Given the description of an element on the screen output the (x, y) to click on. 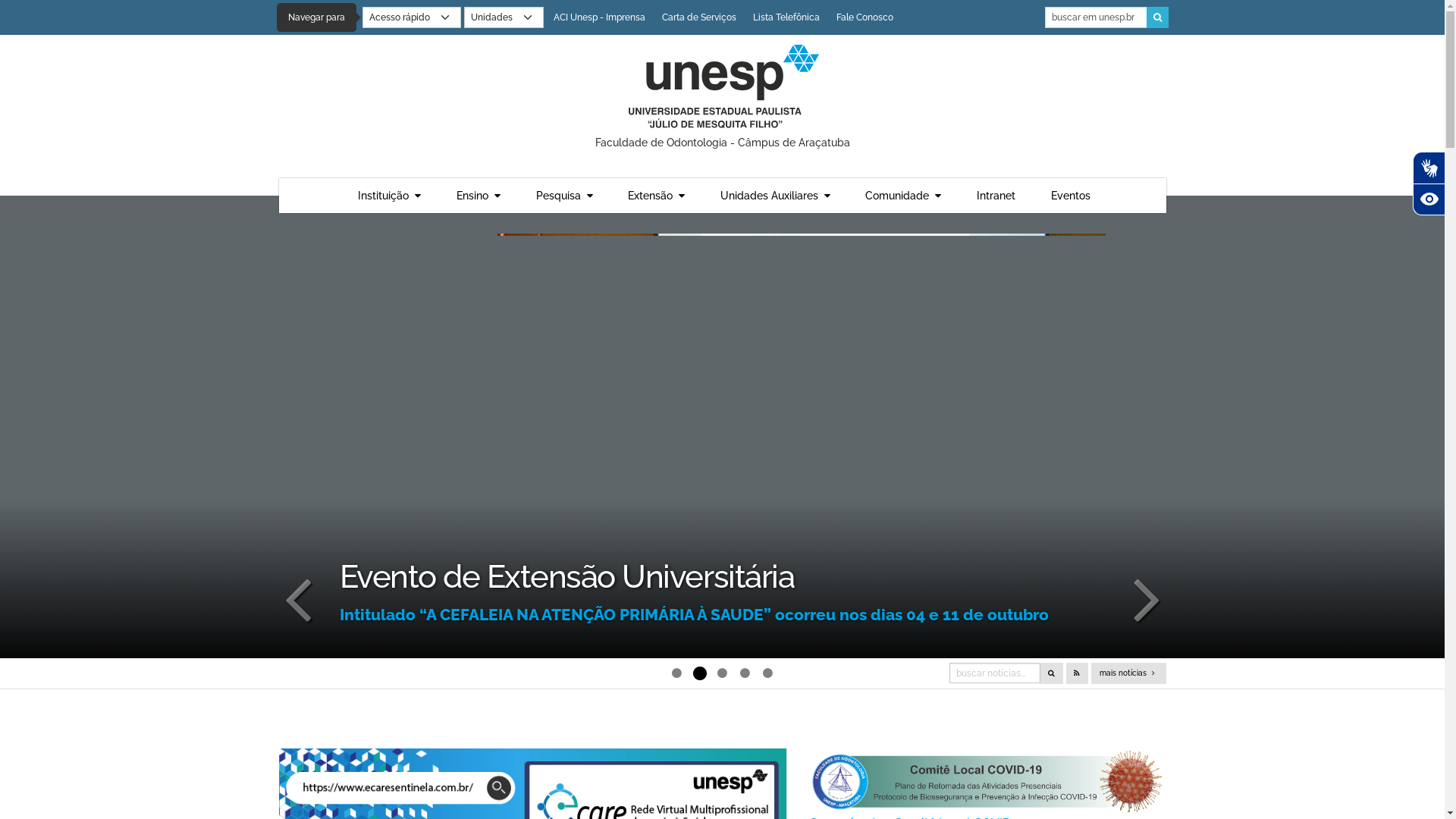
Buscar em unesp.br Element type: hover (1095, 17)
Buscar Element type: text (1157, 17)
Pesquisa Element type: text (564, 195)
Ir para o item anterior Element type: text (297, 597)
Feed de RSS Element type: text (1077, 673)
Intranet Element type: text (995, 195)
ACI Unesp - Imprensa Element type: text (598, 17)
Ensino Element type: text (478, 195)
Eventos Element type: text (1070, 195)
Comunidade Element type: text (903, 195)
Fale Conosco Element type: text (864, 17)
Unidades Auxiliares Element type: text (775, 195)
